Given the description of an element on the screen output the (x, y) to click on. 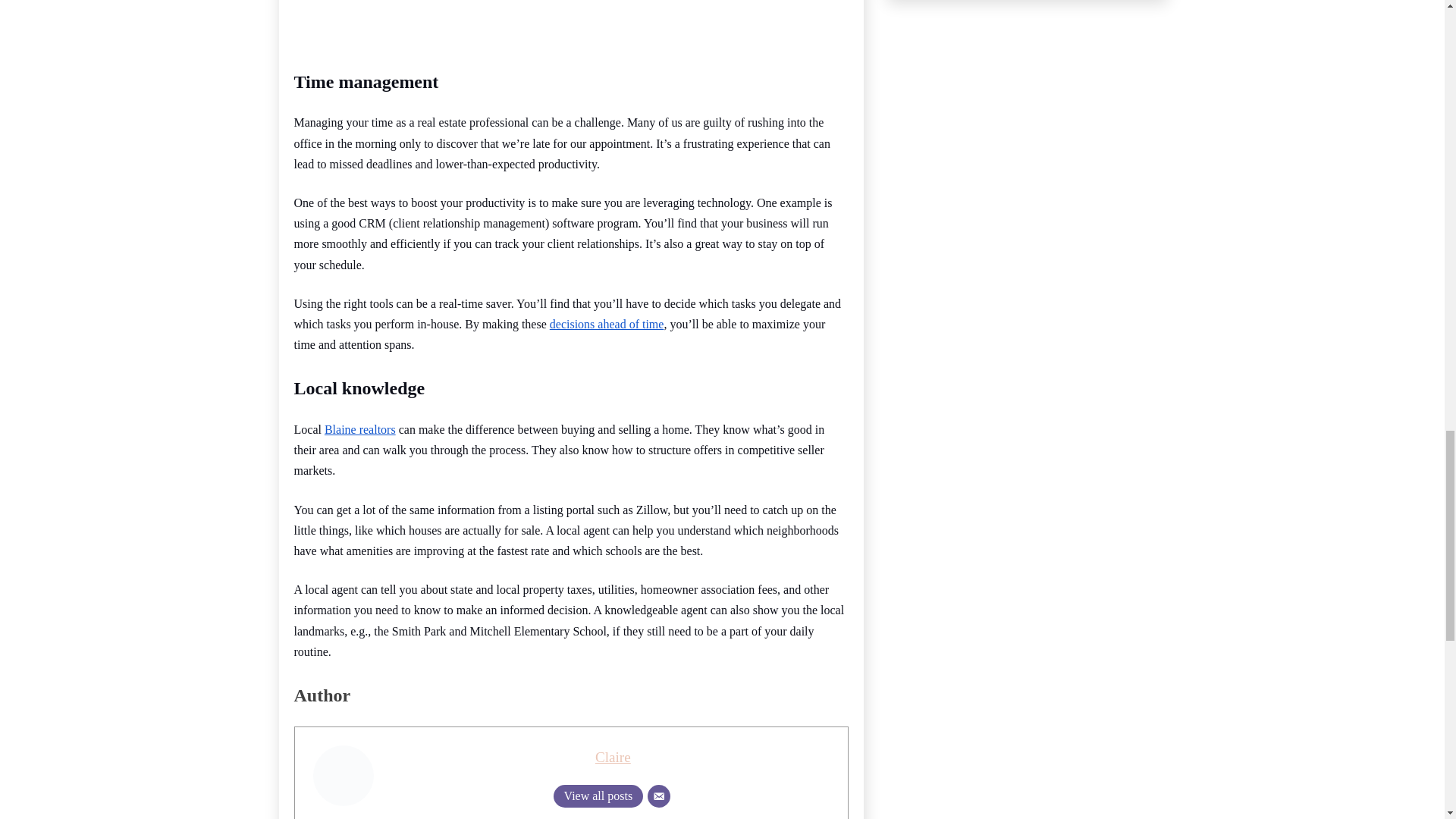
decisions ahead of time (606, 323)
View all posts (598, 795)
Claire (612, 756)
Claire (612, 756)
Blaine realtors (360, 429)
View all posts (598, 795)
